Given the description of an element on the screen output the (x, y) to click on. 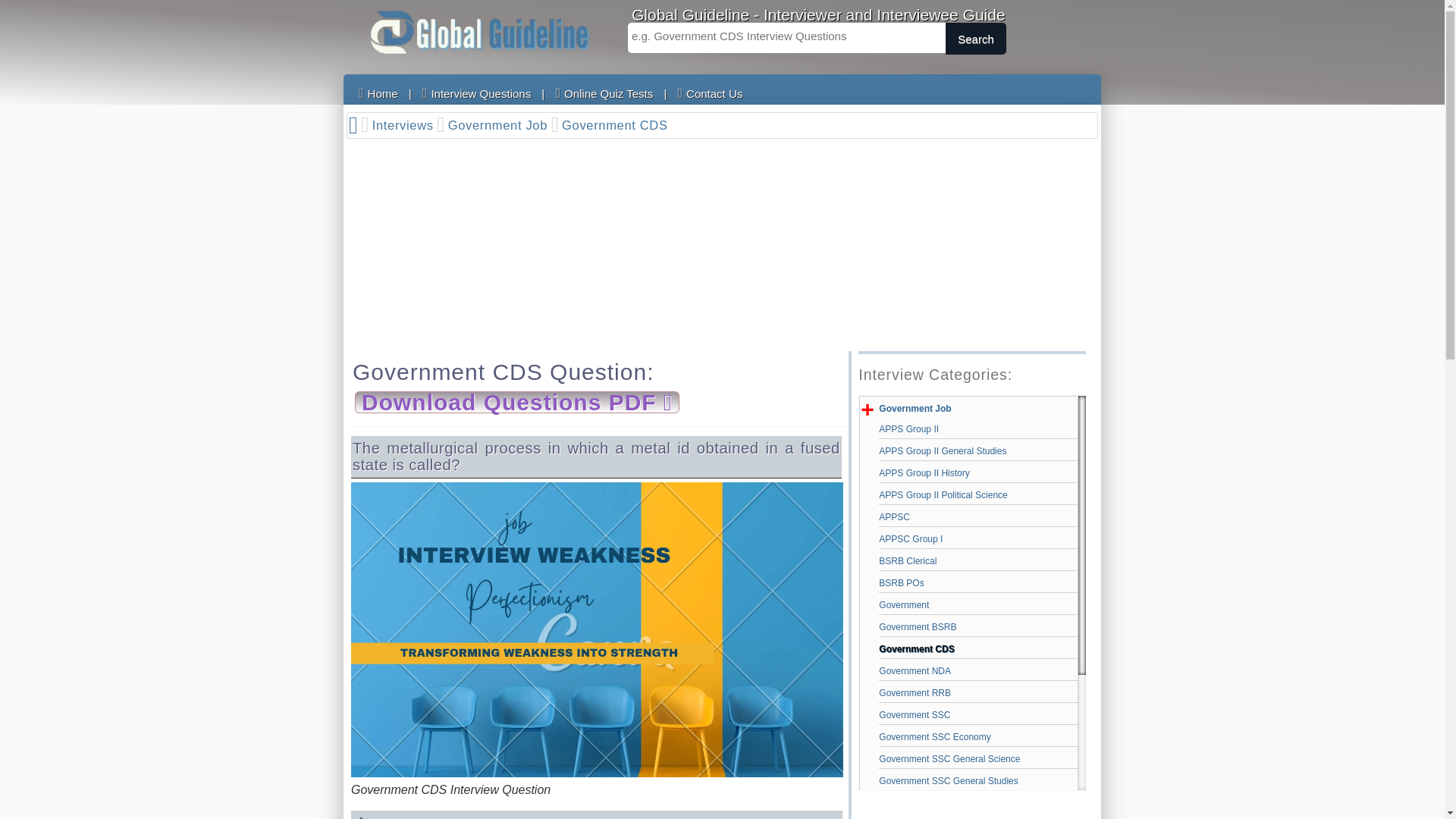
APPSC (978, 517)
Government Job (503, 125)
Government SSC General Studies (978, 781)
APPS Group II History (978, 473)
Government CDS (978, 649)
APPS Group II Political Science (978, 494)
APPS Group II Political Science (978, 494)
Explore Government Job Subcategories (914, 408)
Online Quiz Tests (604, 92)
Government NDA (978, 670)
Government SSC General Science (978, 758)
Government SSC (978, 714)
Search (975, 38)
